Given the description of an element on the screen output the (x, y) to click on. 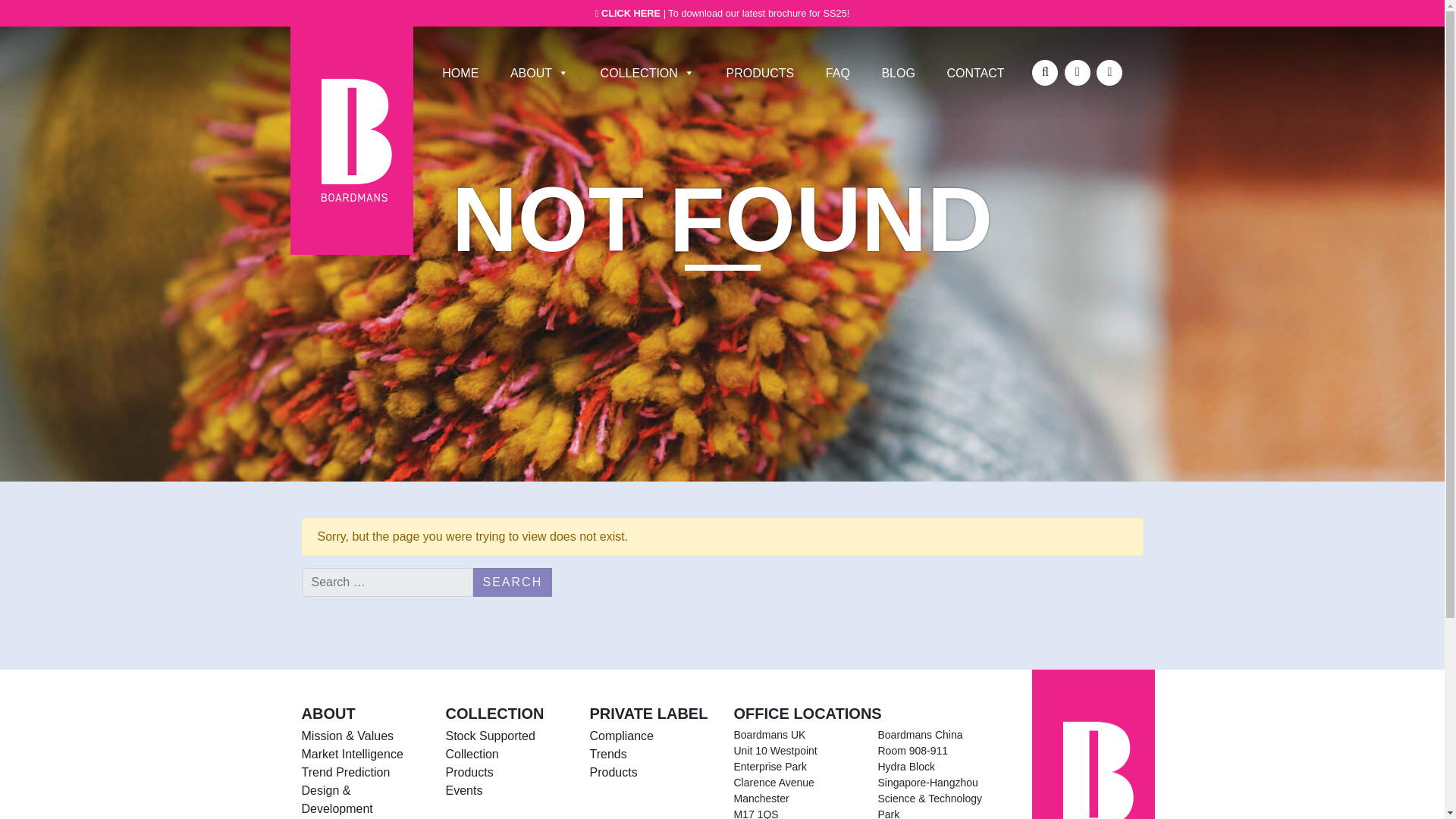
ABOUT (540, 72)
My Account (1045, 72)
CLICK HERE (632, 12)
Search (513, 582)
Search (513, 582)
